Given the description of an element on the screen output the (x, y) to click on. 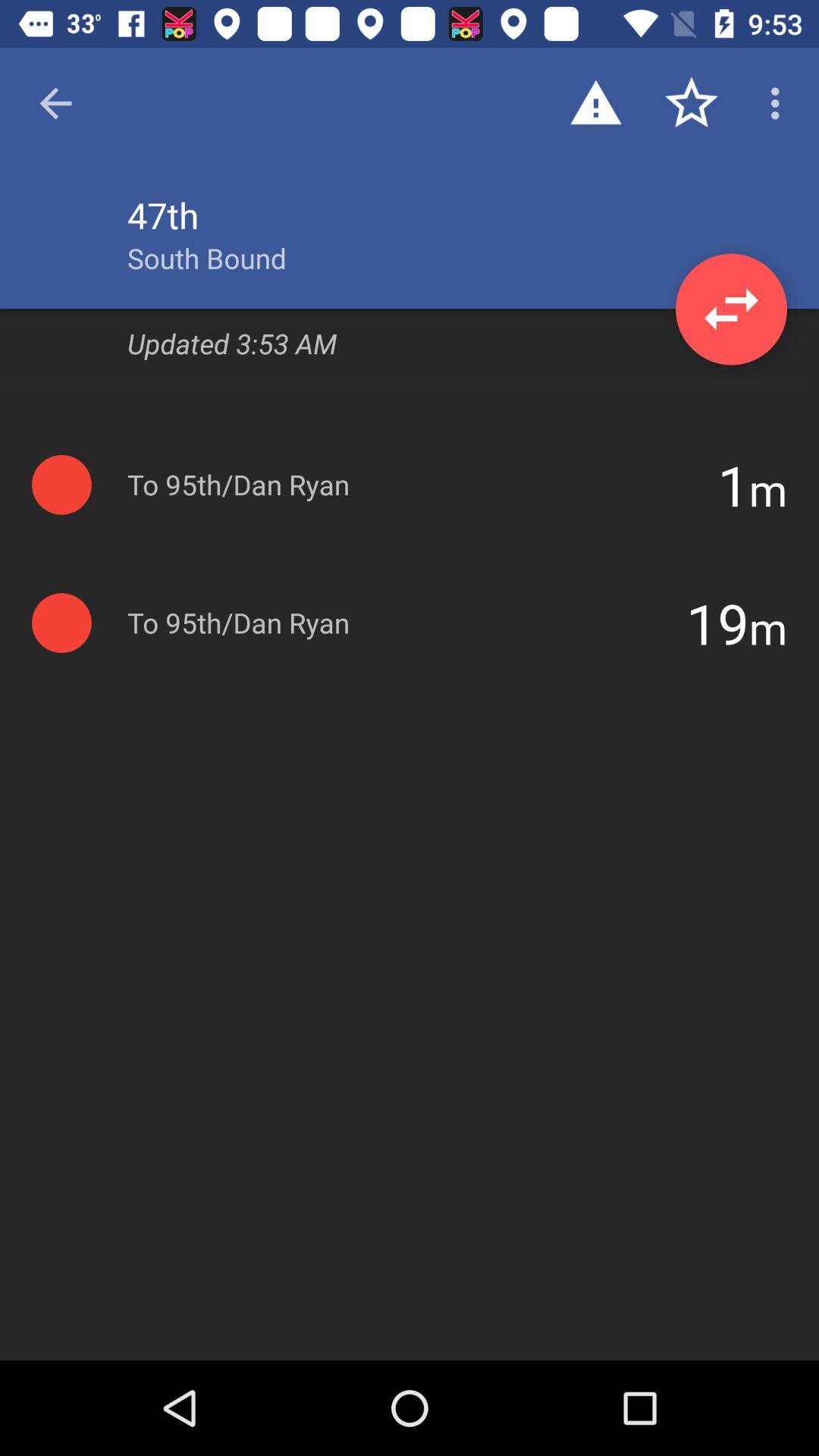
open the icon to the right of 95th/dan ryan item (733, 484)
